Given the description of an element on the screen output the (x, y) to click on. 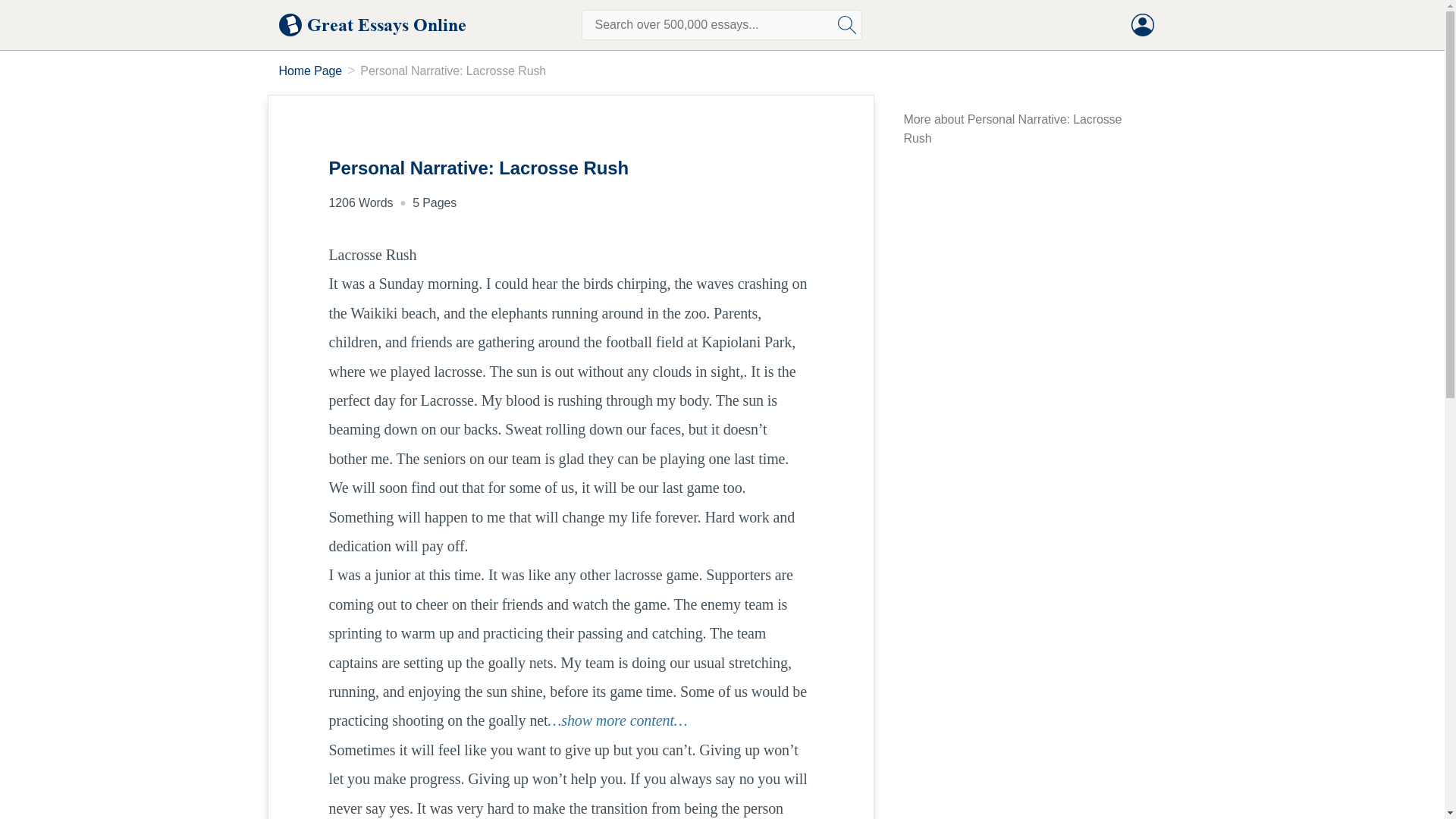
Home Page (310, 70)
